Given the description of an element on the screen output the (x, y) to click on. 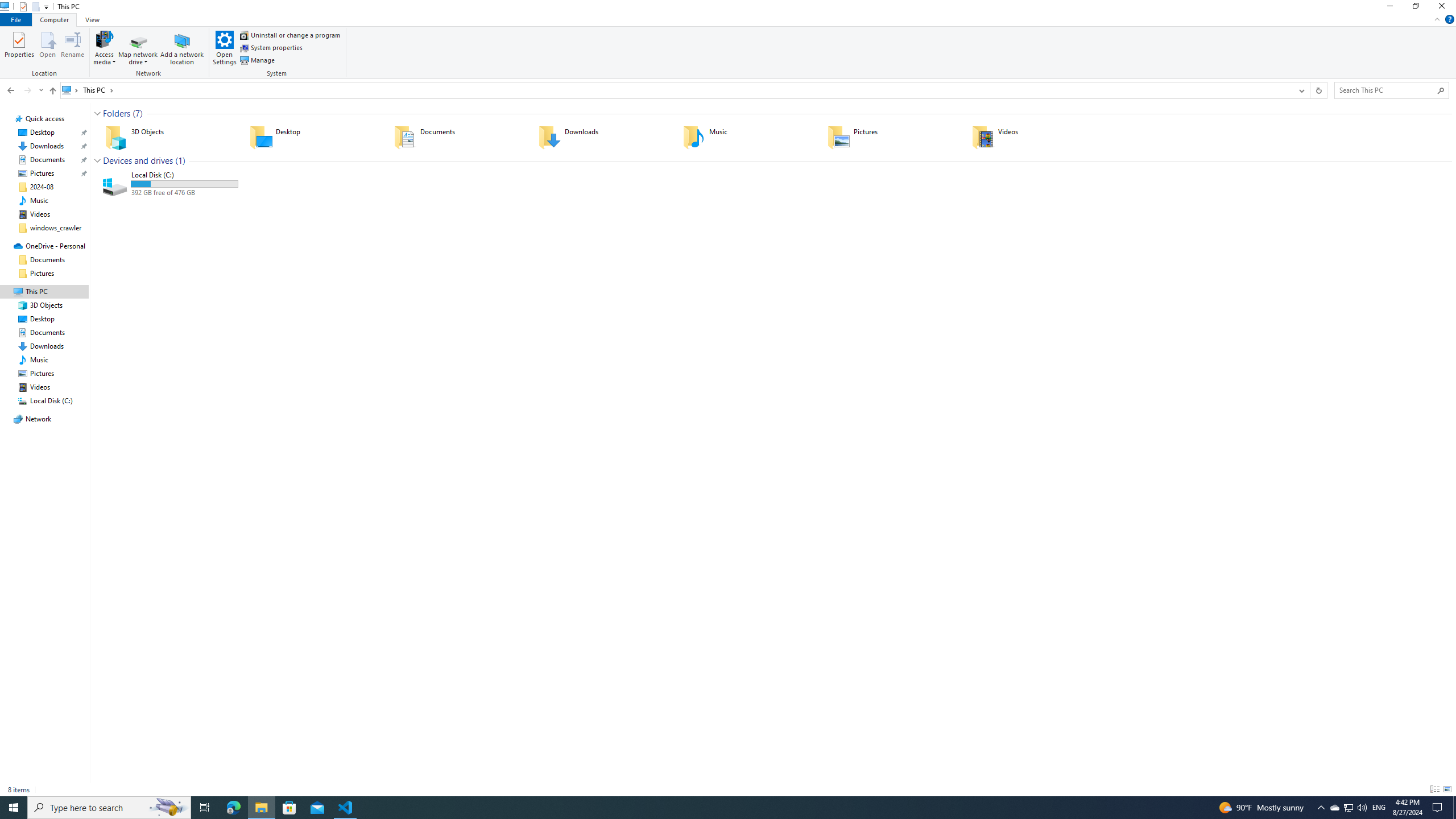
Up to "Desktop" (Alt + Up Arrow) (52, 90)
Refresh "This PC" (F5) (1318, 90)
Collapse Group (97, 160)
Details (1434, 789)
System (6, 6)
Documents (pinned) (47, 159)
Help (1449, 19)
Uninstall or change a program (290, 34)
Quick Access Toolbar (29, 6)
Minimize (1388, 8)
Forward (Alt + Right Arrow) (27, 90)
Computer (54, 19)
Navigation buttons (24, 90)
